Given the description of an element on the screen output the (x, y) to click on. 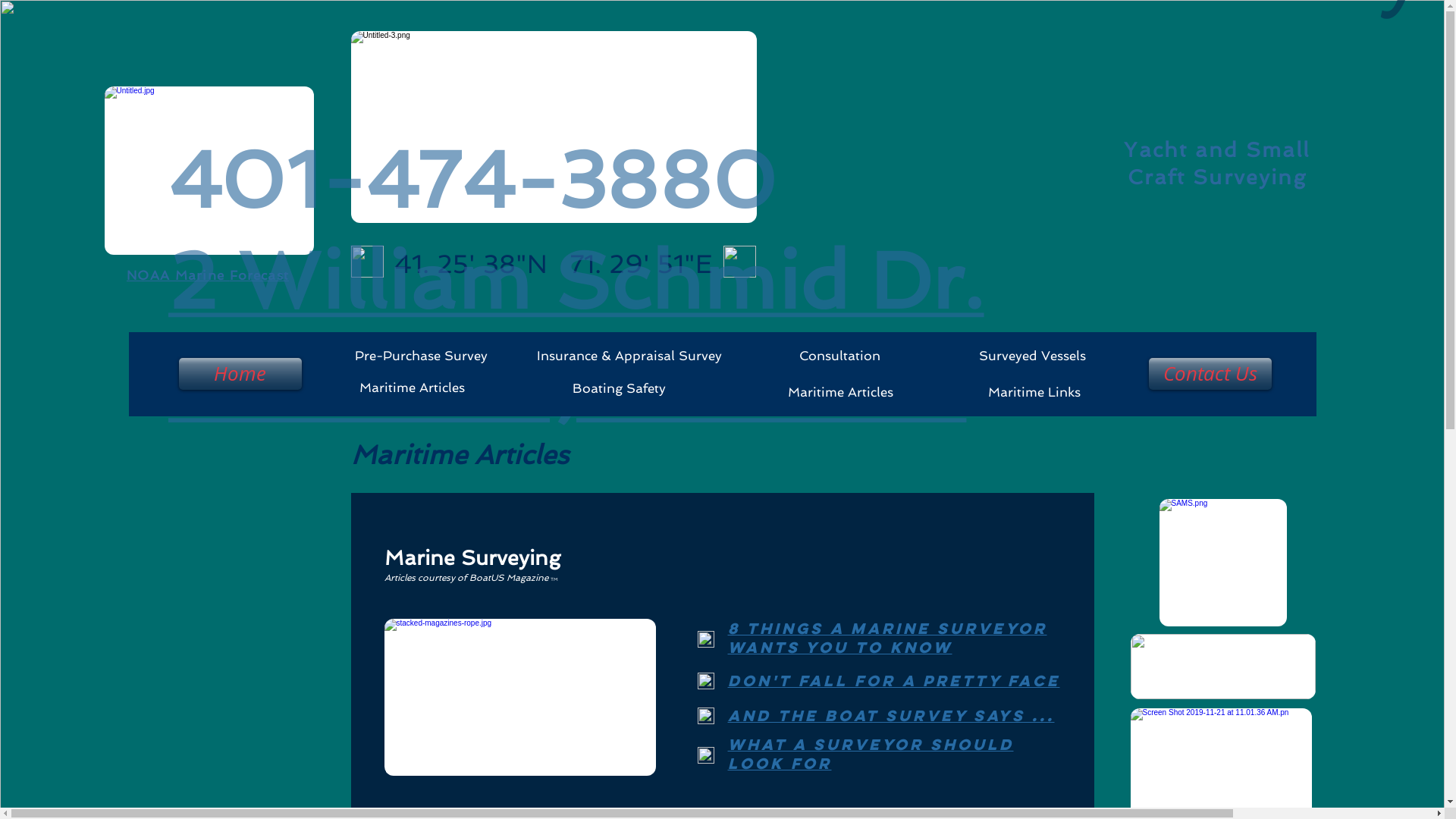
Contact Us Element type: text (1206, 373)
Home Element type: text (238, 373)
Boating Safety Element type: text (617, 388)
NOAA Marine Forecast Element type: text (207, 274)
And The Boat Survey Says ... Element type: text (891, 715)
Insurance & Appraisal Survey Element type: text (624, 356)
Maritime Links Element type: text (1031, 392)
8 Things A Marine Surveyor Wants You To Know Element type: text (887, 637)
Surveyed Vessels Element type: text (1030, 356)
What A Surveyor Should Look For Element type: text (870, 753)
Consultation Element type: text (837, 356)
Pre-Purchase Survey Element type: text (417, 356)
Maritime Articles Element type: text (838, 392)
Maritime Articles Element type: text (409, 388)
Don't Fall For A Pretty Face Element type: text (894, 680)
